Given the description of an element on the screen output the (x, y) to click on. 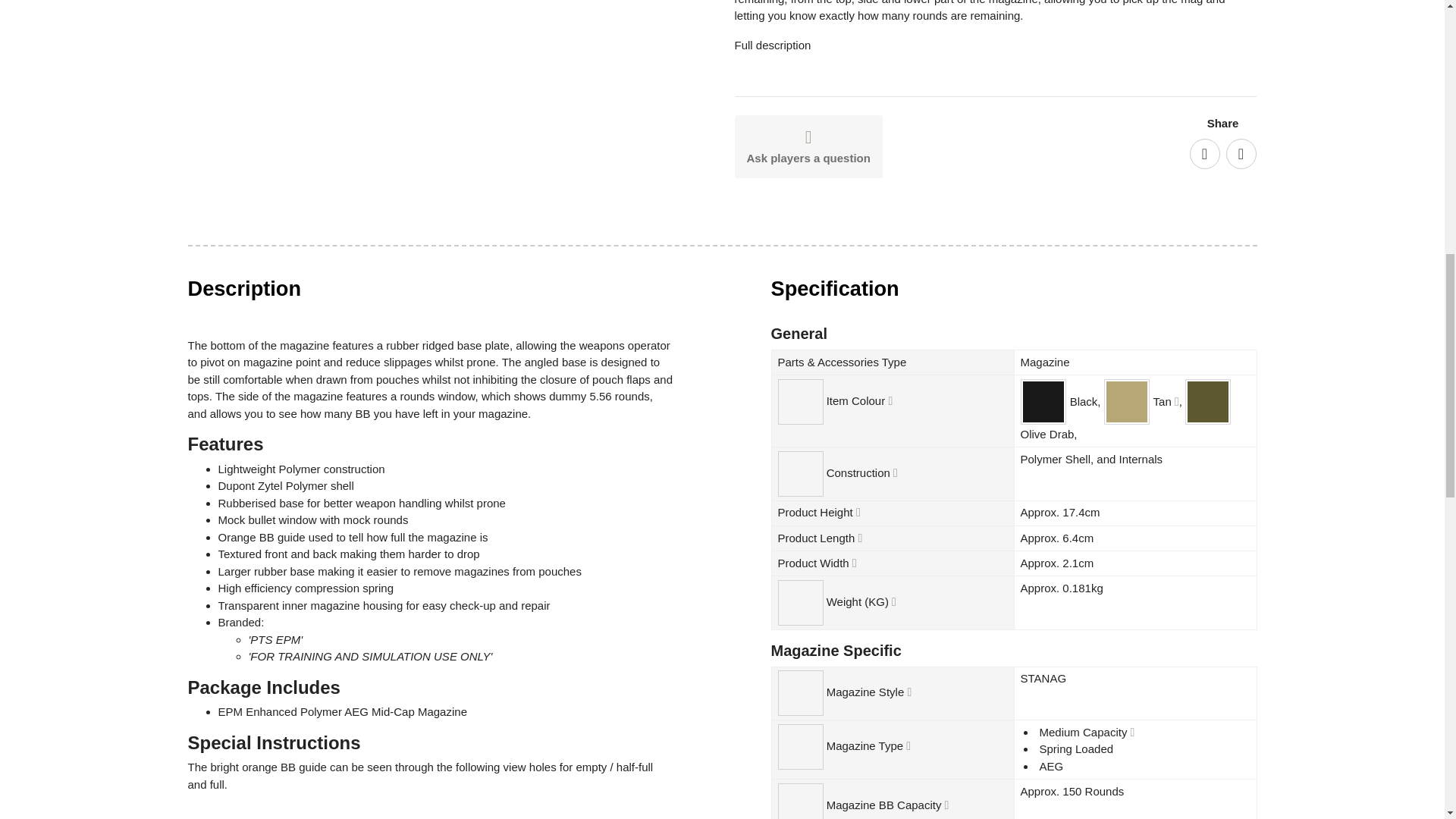
Facebook (1204, 153)
Black (1042, 401)
Tan (1126, 401)
Twitter (1240, 153)
Olive Drab (1208, 401)
